Given the description of an element on the screen output the (x, y) to click on. 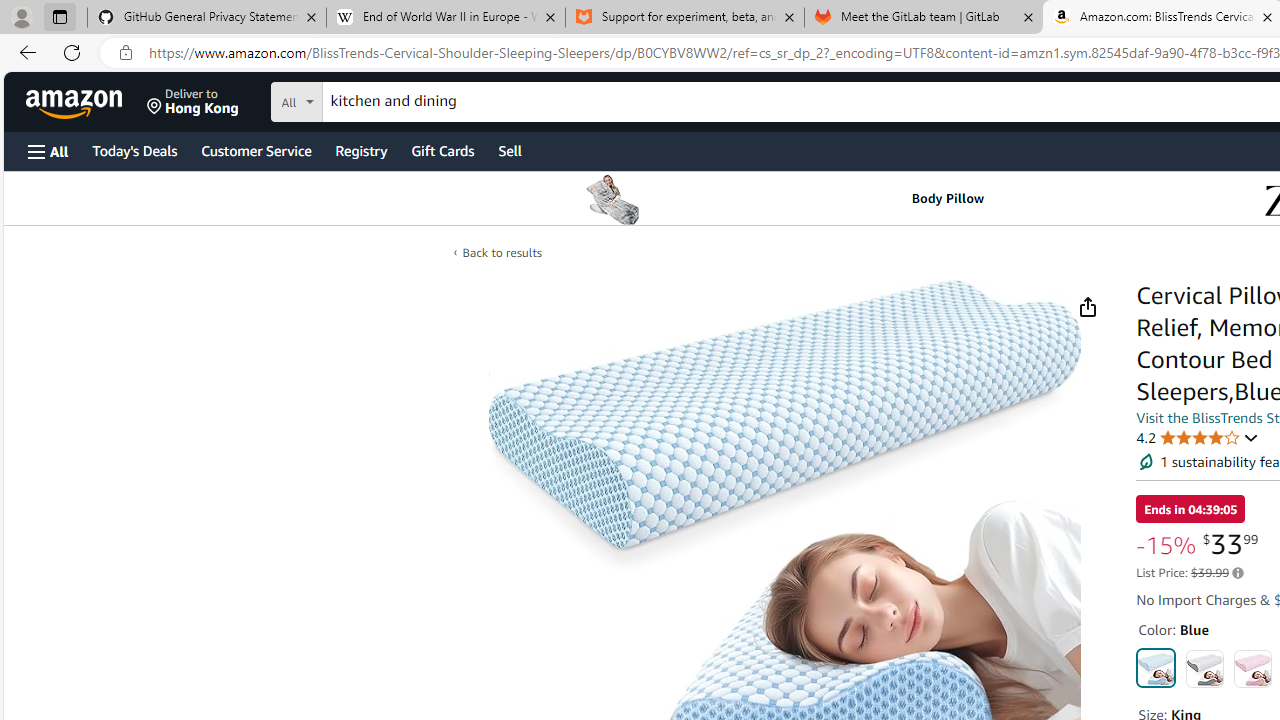
Blue (1156, 668)
End of World War II in Europe - Wikipedia (445, 17)
Grey (1204, 668)
Amazon (76, 101)
Back to results (501, 252)
Pink (1252, 668)
Meet the GitLab team | GitLab (924, 17)
Grey (1204, 668)
Deliver to Hong Kong (193, 101)
4.2 4.2 out of 5 stars (1197, 437)
Sell (509, 150)
Back to results (501, 251)
